Given the description of an element on the screen output the (x, y) to click on. 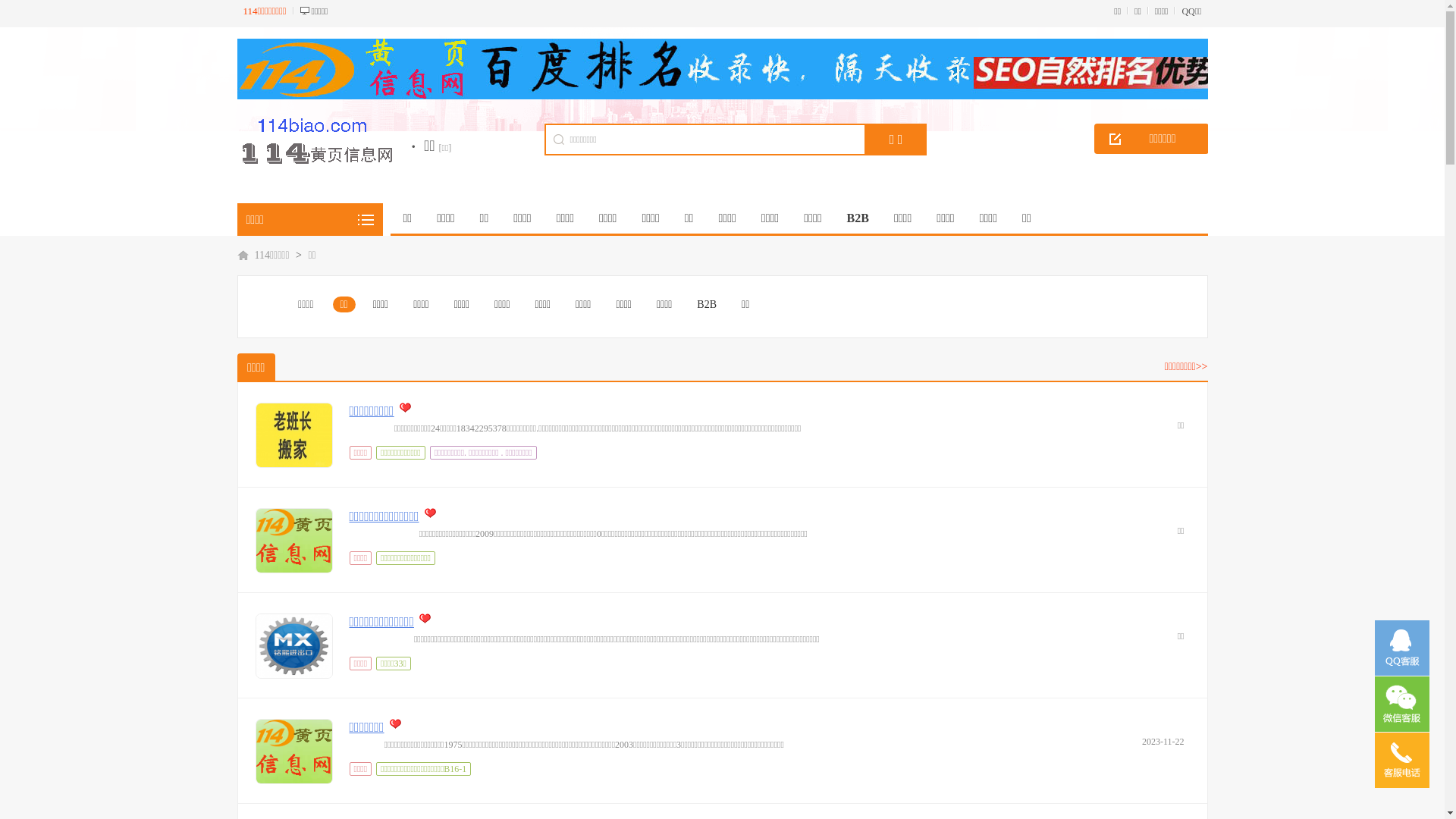
B2B Element type: text (857, 218)
B2B Element type: text (706, 304)
